Given the description of an element on the screen output the (x, y) to click on. 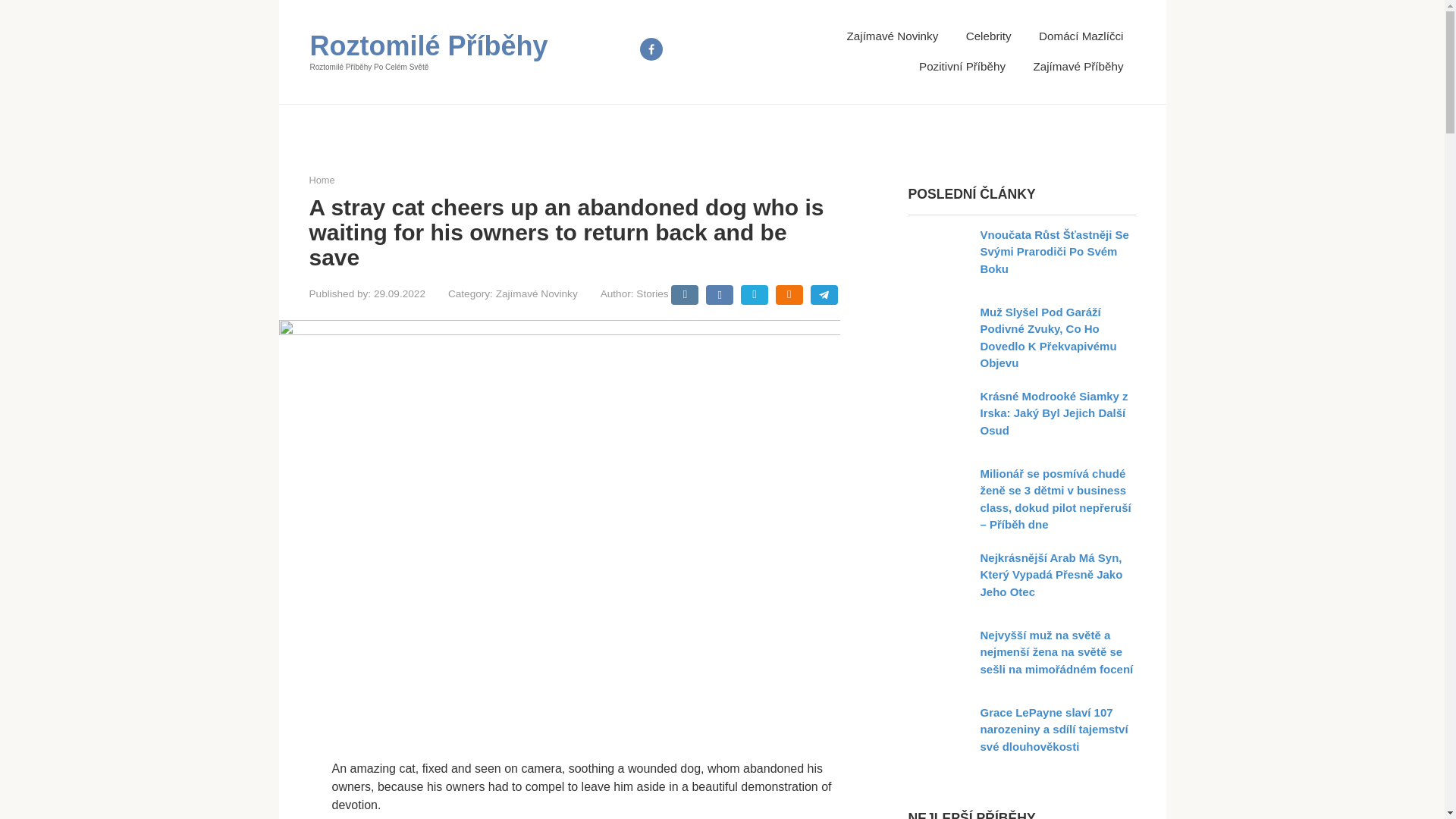
Celebrity (988, 36)
Home (321, 179)
